Given the description of an element on the screen output the (x, y) to click on. 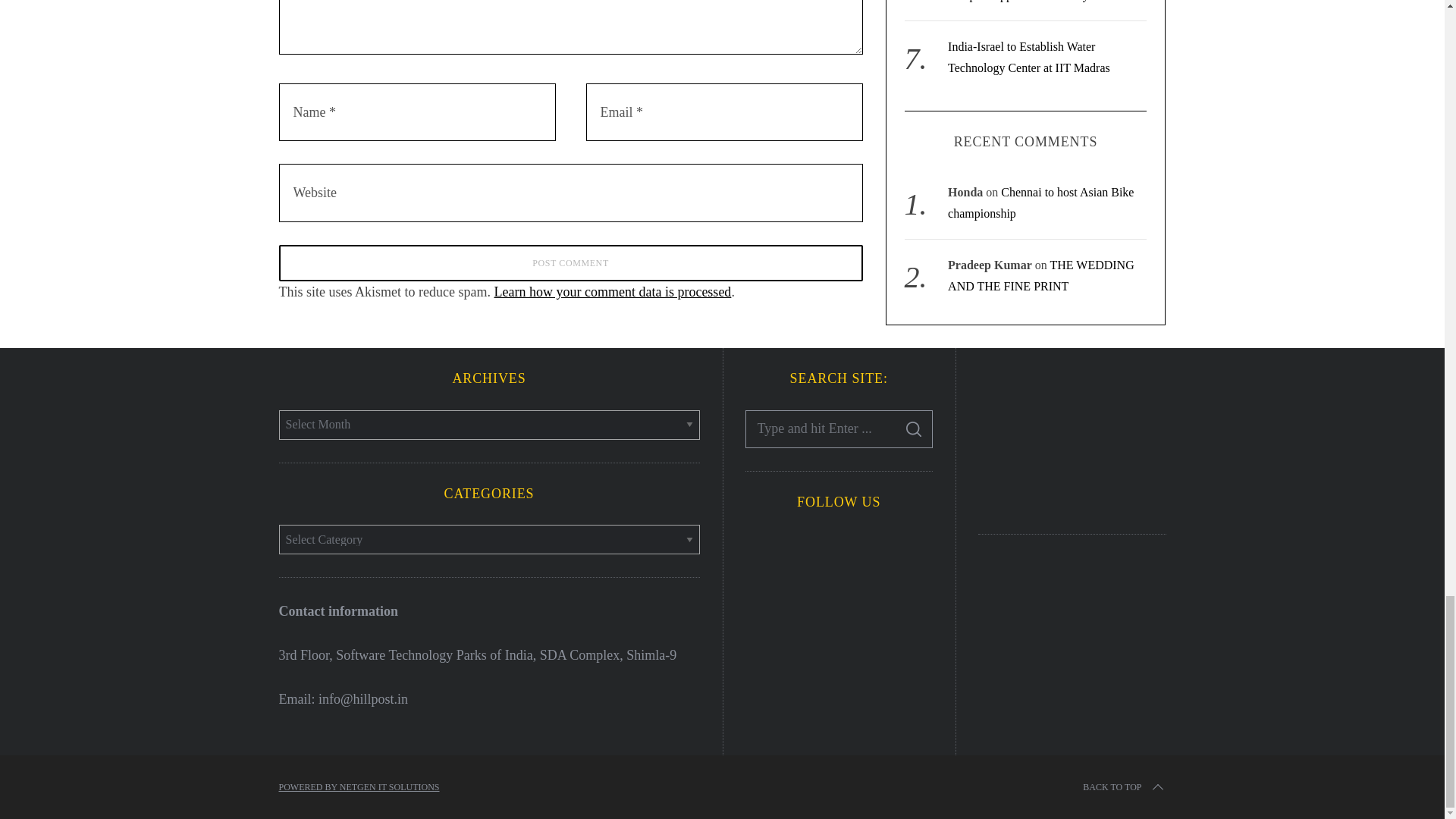
Post Comment (571, 262)
Learn how your comment data is processed (611, 291)
Post Comment (571, 262)
PepupHome Best Home improvement blog 2020 (1072, 438)
